Given the description of an element on the screen output the (x, y) to click on. 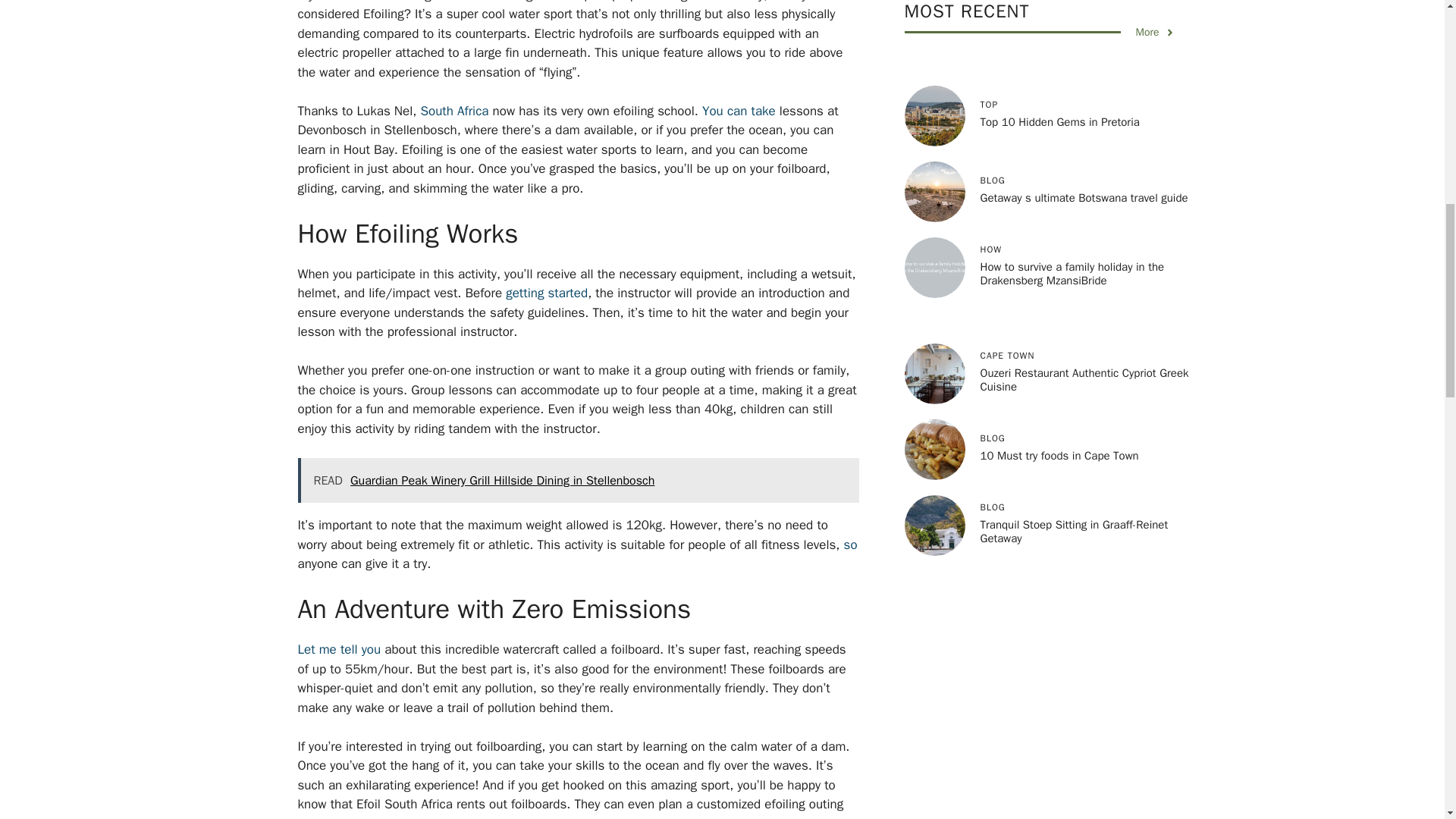
You can take (738, 110)
Let me tell you (338, 649)
Top 10 Hidden Gems in Pretoria (1058, 121)
10 Must try foods in Cape Town (1058, 455)
getting started (546, 293)
Ouzeri Restaurant Authentic Cypriot Greek Cuisine (1083, 379)
South Africa (453, 110)
Getaway s ultimate Botswana travel guide (1083, 197)
More (1154, 32)
